Given the description of an element on the screen output the (x, y) to click on. 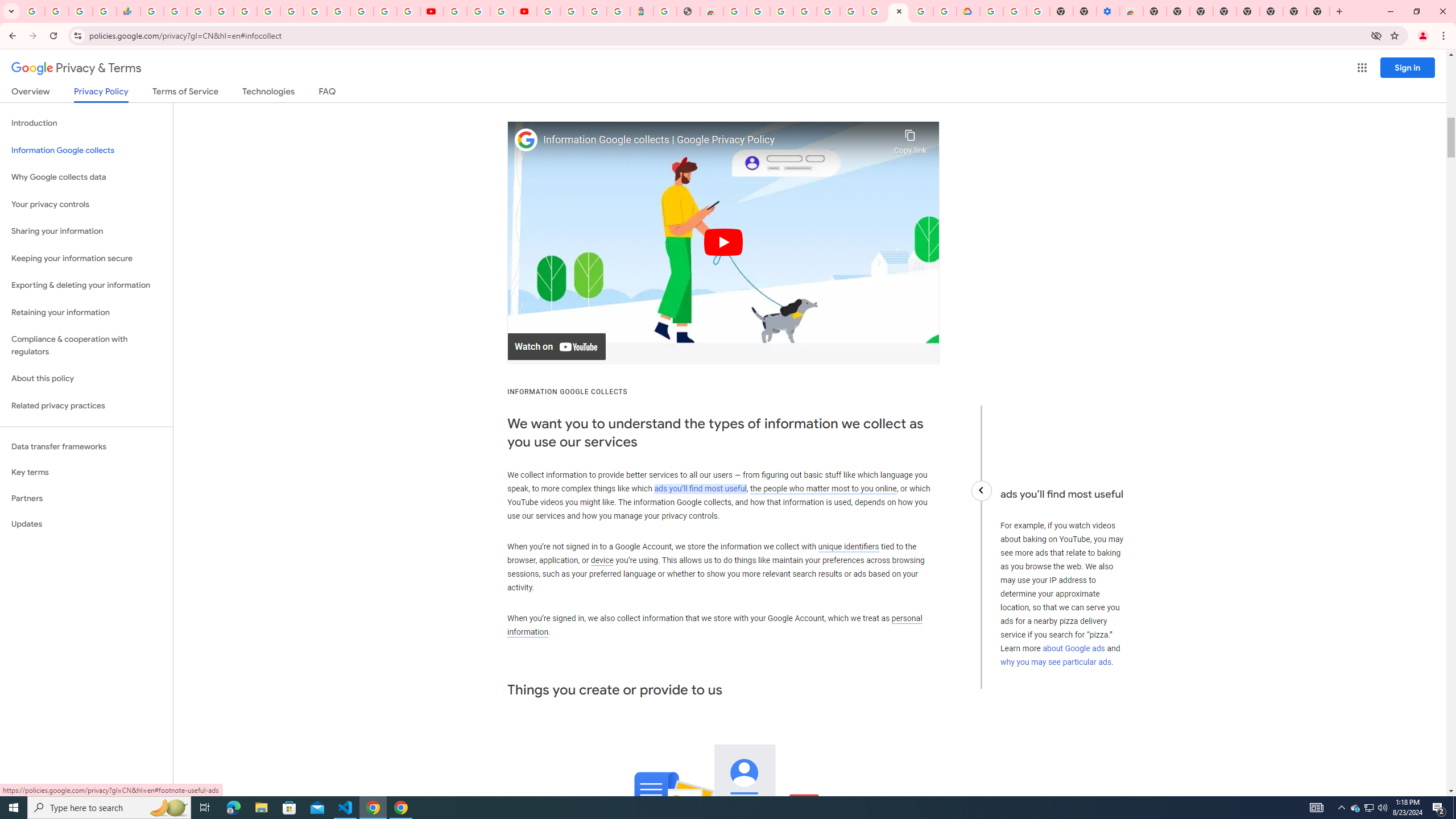
Information Google collects (86, 150)
Sign in - Google Accounts (221, 11)
Chrome Web Store - Accessibility extensions (1131, 11)
Sign in - Google Accounts (571, 11)
Information Google collects | Google Privacy Policy (715, 140)
